Given the description of an element on the screen output the (x, y) to click on. 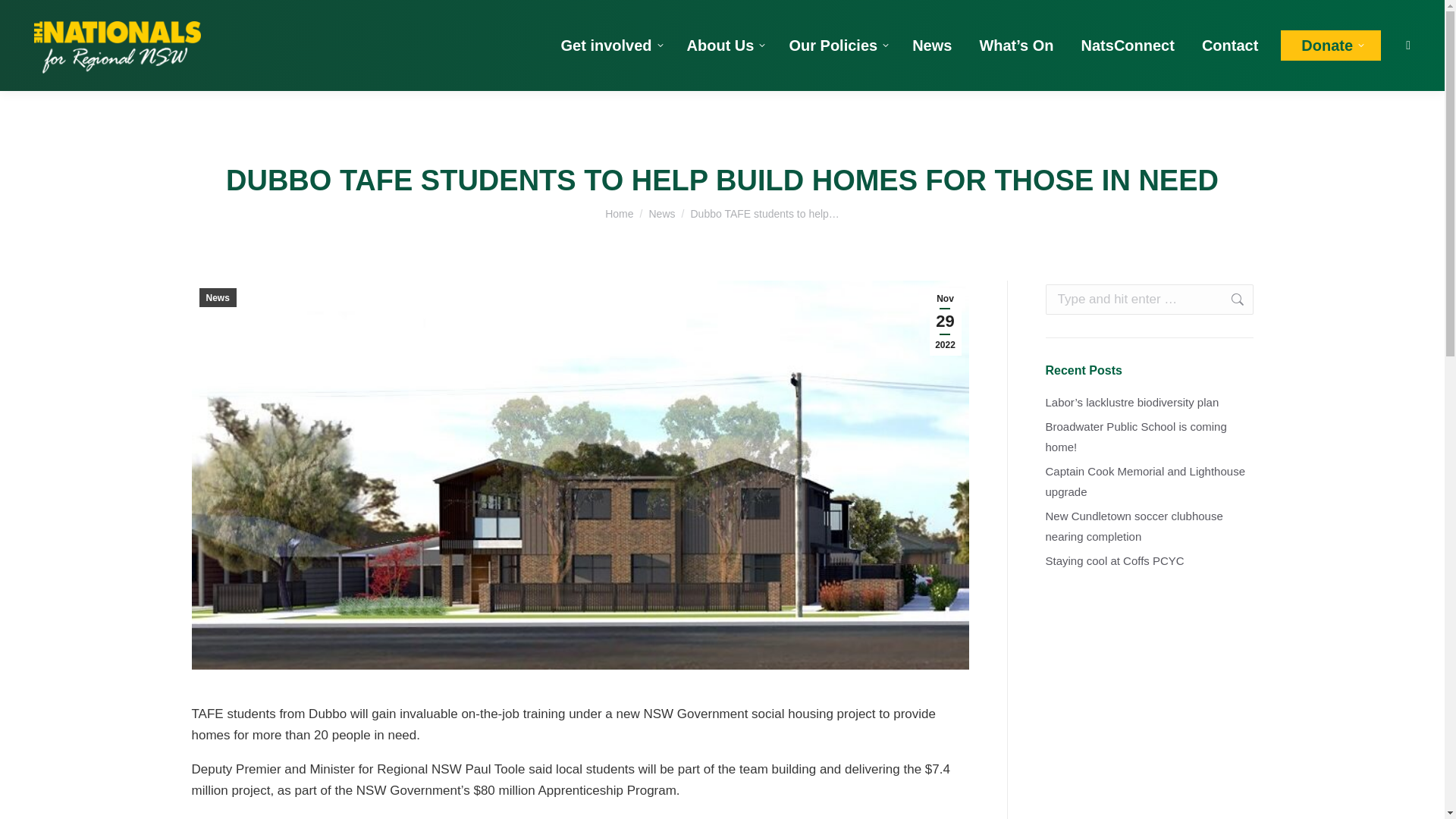
About Us (724, 44)
Go! (24, 16)
Go! (1229, 299)
Donate (1330, 45)
Our Policies (837, 44)
Get involved (609, 44)
Contact (1229, 44)
Go! (1229, 299)
Home (619, 214)
NatsConnect (1127, 44)
News (661, 214)
